Given the description of an element on the screen output the (x, y) to click on. 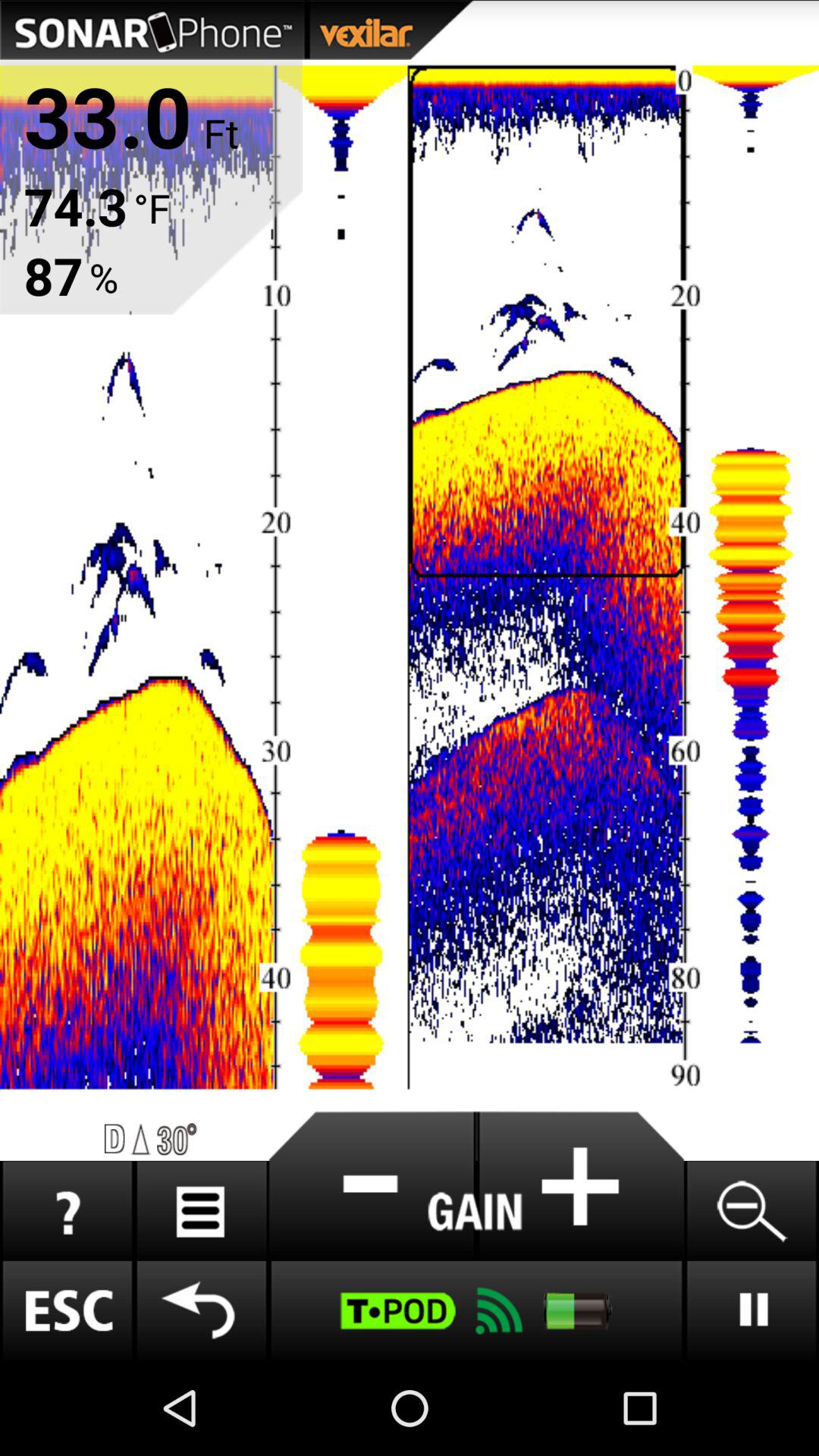
menu option (201, 1210)
